Given the description of an element on the screen output the (x, y) to click on. 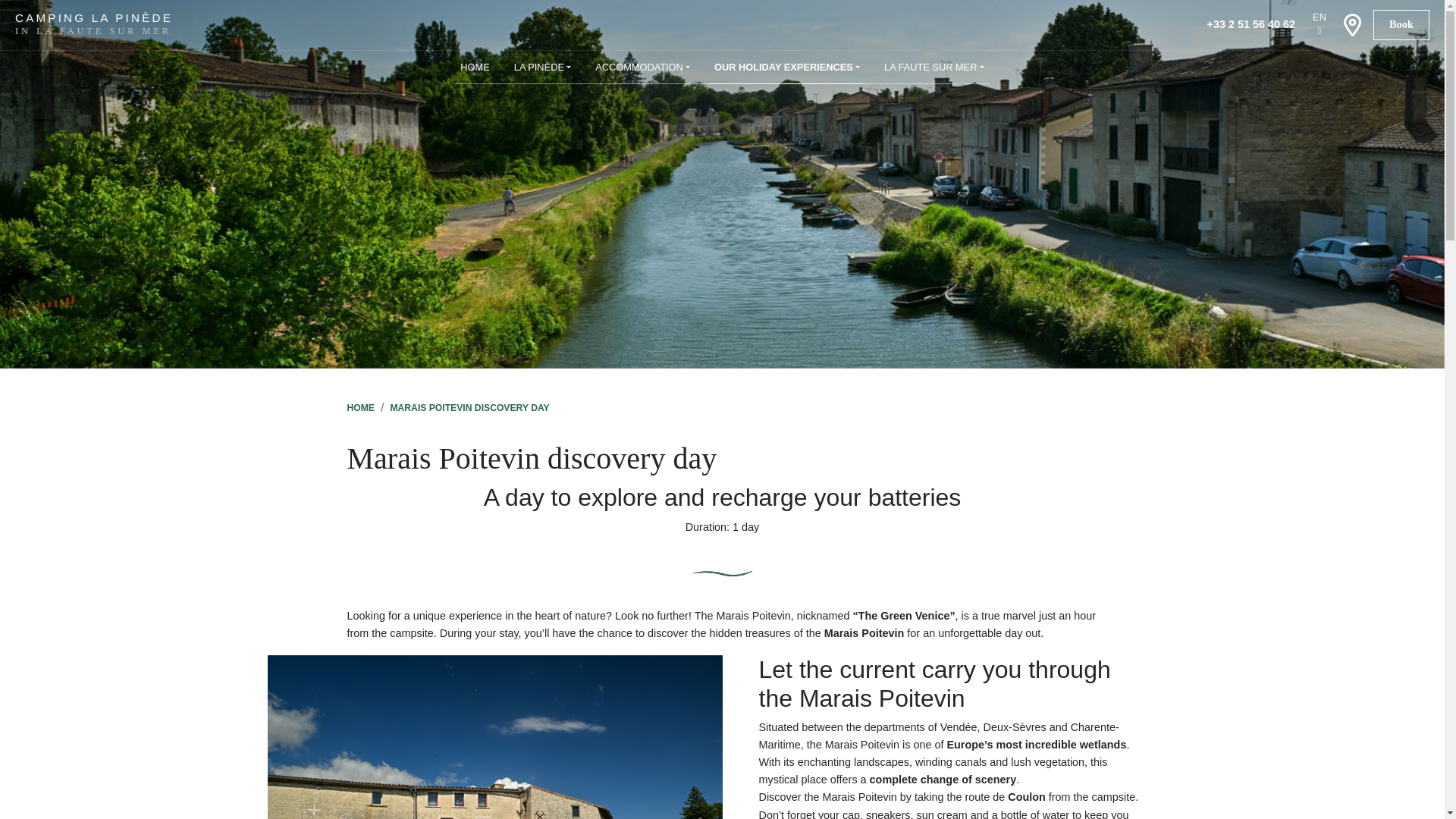
HOME (474, 66)
Book (1401, 24)
EN (1318, 17)
ACCOMMODATION (642, 66)
OUR HOLIDAY EXPERIENCES (786, 66)
